Given the description of an element on the screen output the (x, y) to click on. 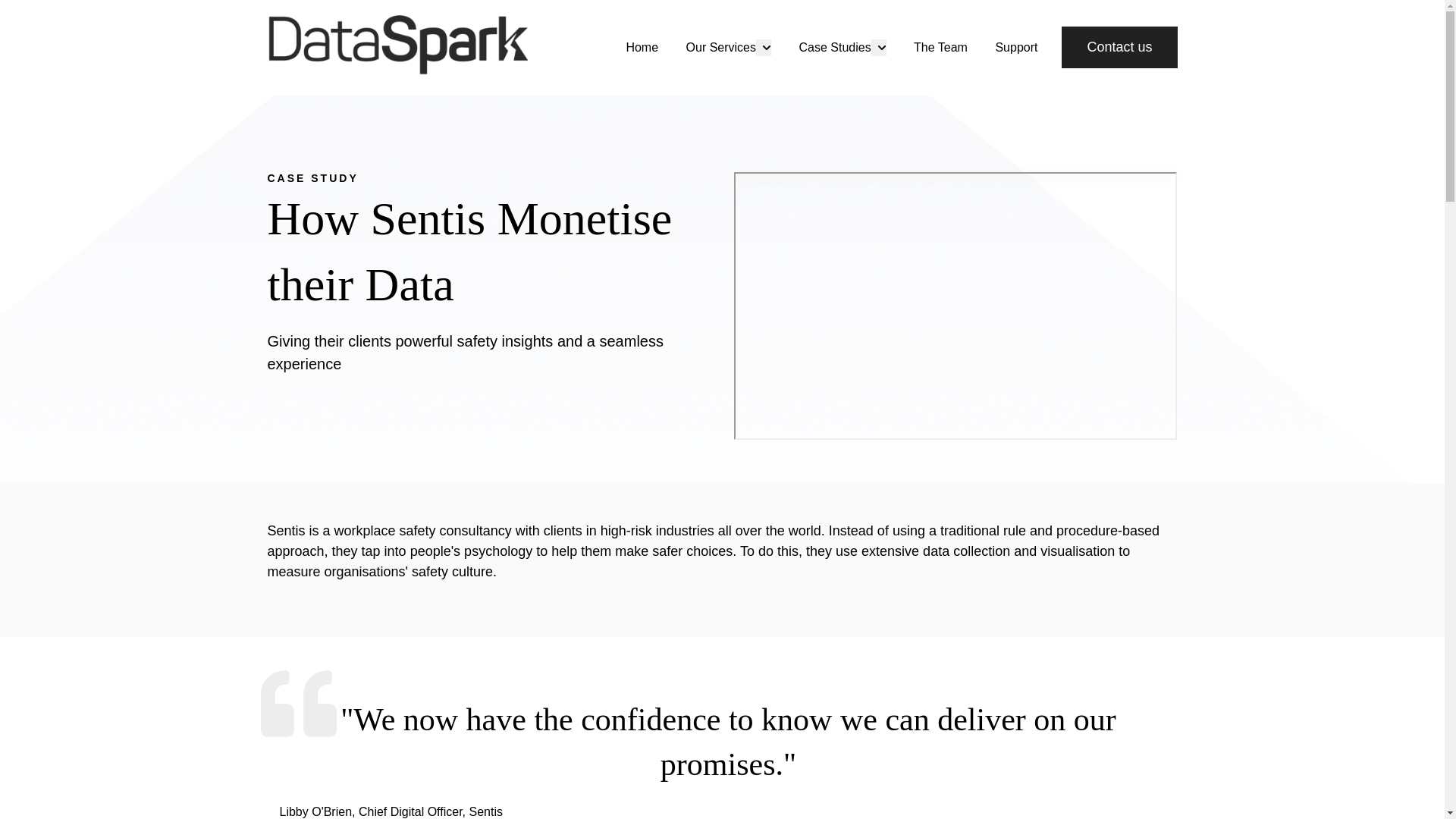
The Team (941, 47)
Case Studies (833, 47)
Home (642, 47)
Show submenu for Our Services (763, 47)
Support (1015, 47)
Show submenu for Case Studies (878, 47)
Contact us (1118, 46)
Our Services (720, 47)
